Given the description of an element on the screen output the (x, y) to click on. 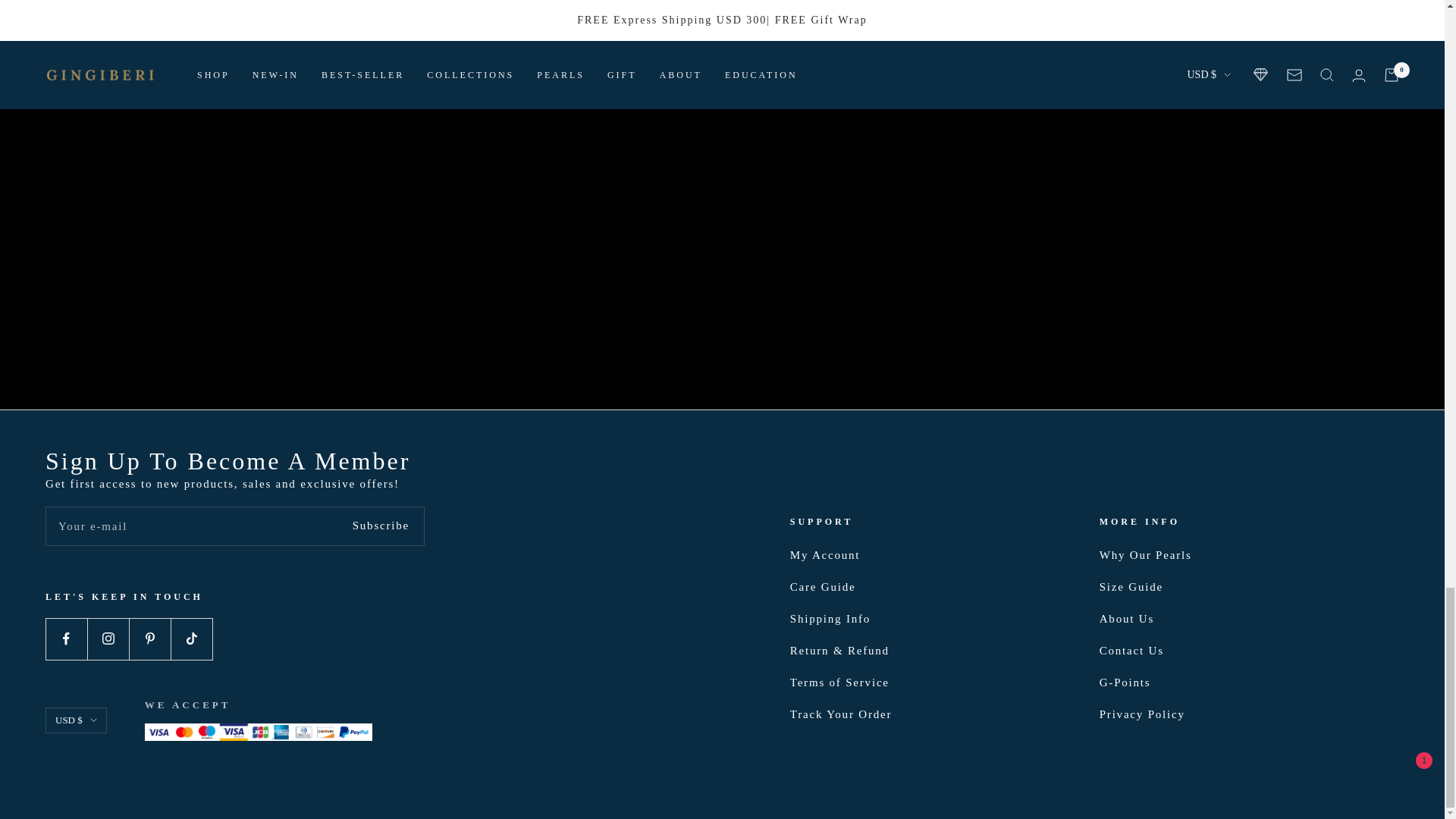
Register (380, 526)
